Given the description of an element on the screen output the (x, y) to click on. 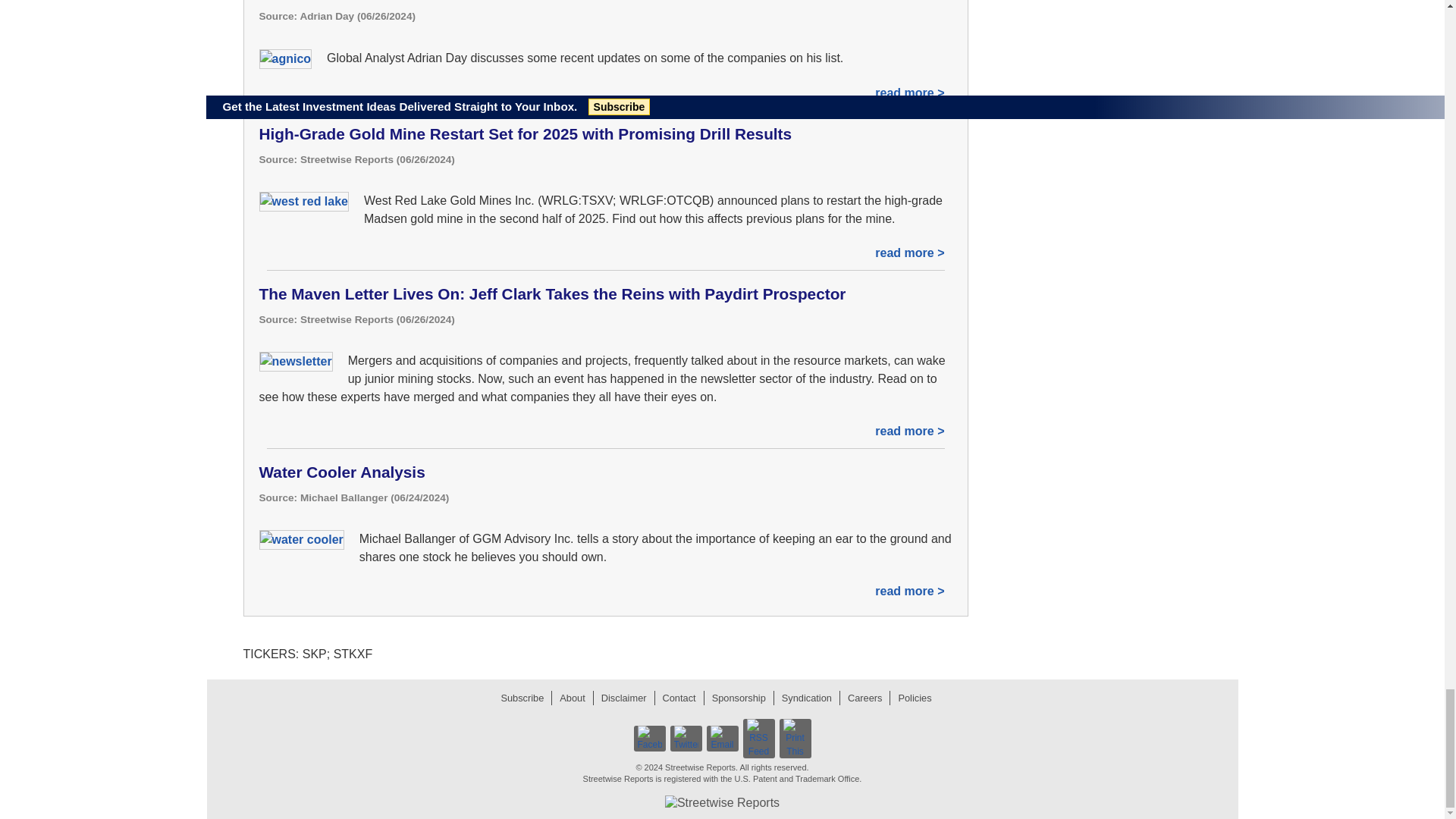
west red lake (304, 201)
agnico (286, 58)
